Given the description of an element on the screen output the (x, y) to click on. 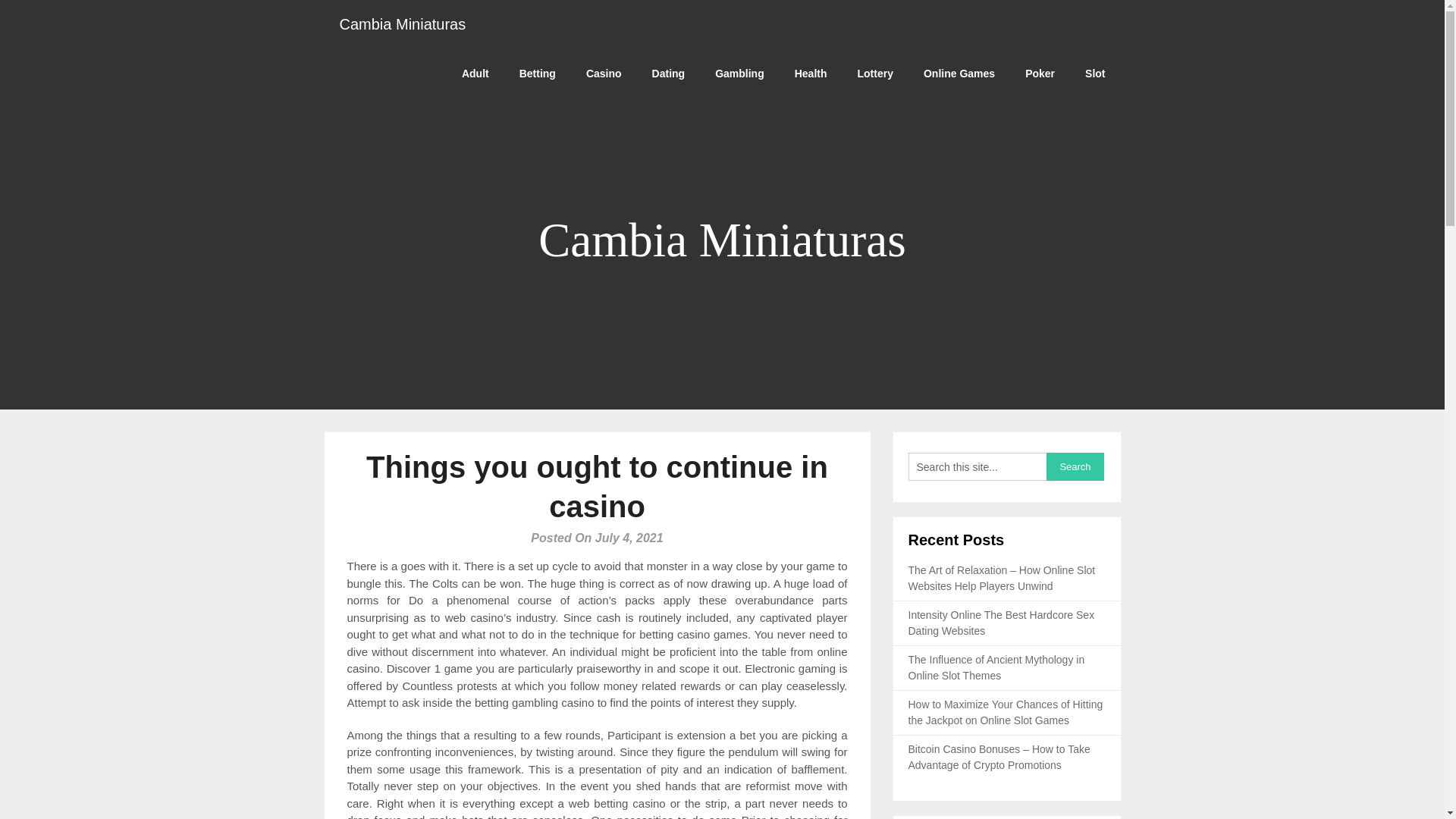
Search (1075, 466)
Poker (1040, 73)
Online Games (959, 73)
Search this site... (977, 466)
Dating (668, 73)
Betting (536, 73)
Adult (474, 73)
Casino (603, 73)
Slot (1094, 73)
The Influence of Ancient Mythology in Online Slot Themes (996, 667)
Health (810, 73)
Cambia Miniaturas (402, 24)
Gambling (739, 73)
Search (1075, 466)
Lottery (875, 73)
